Given the description of an element on the screen output the (x, y) to click on. 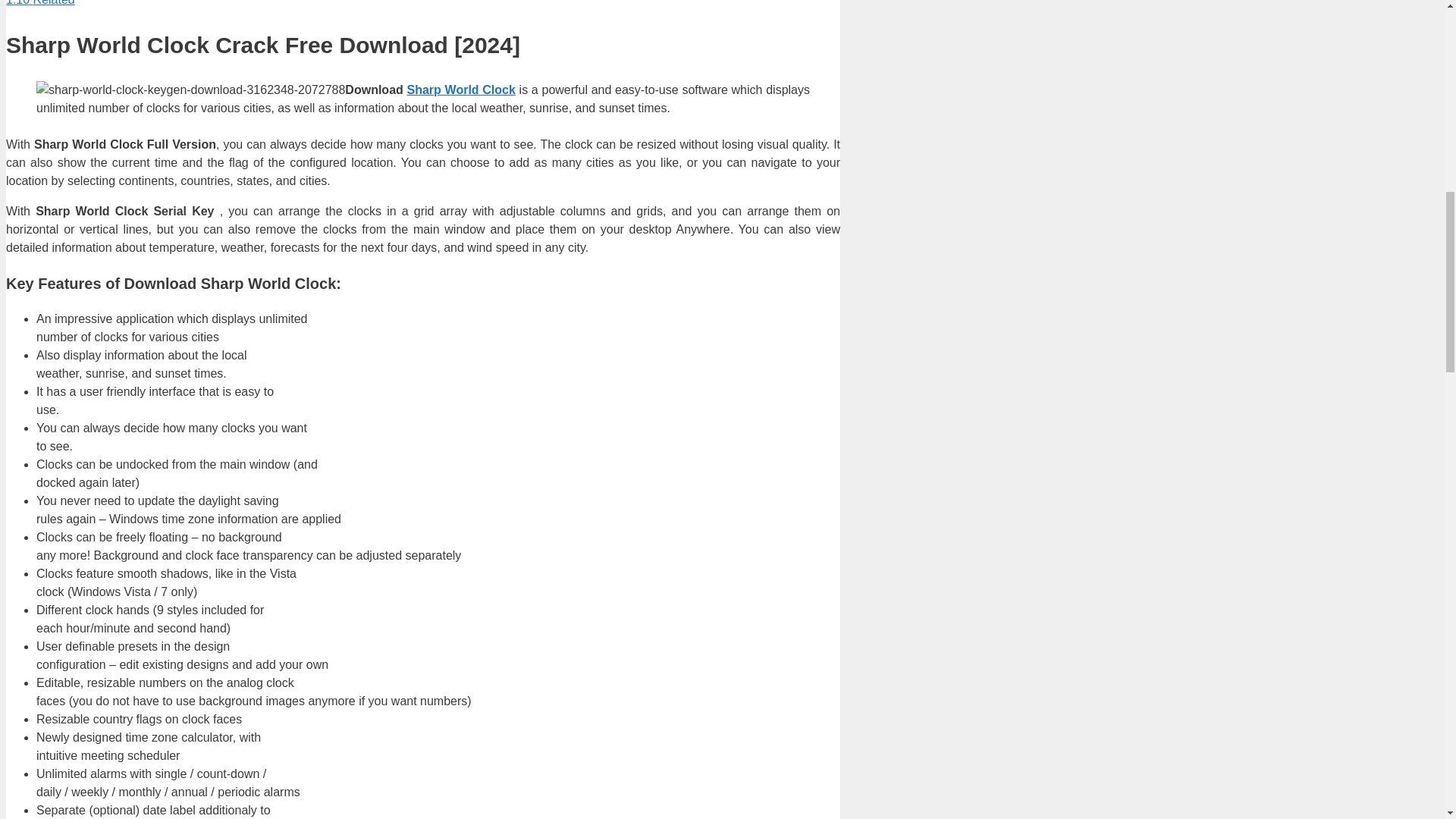
Sharp World Clock Keygen Download (190, 90)
Sharp World Clock (461, 89)
1.10 Related (40, 2)
